Given the description of an element on the screen output the (x, y) to click on. 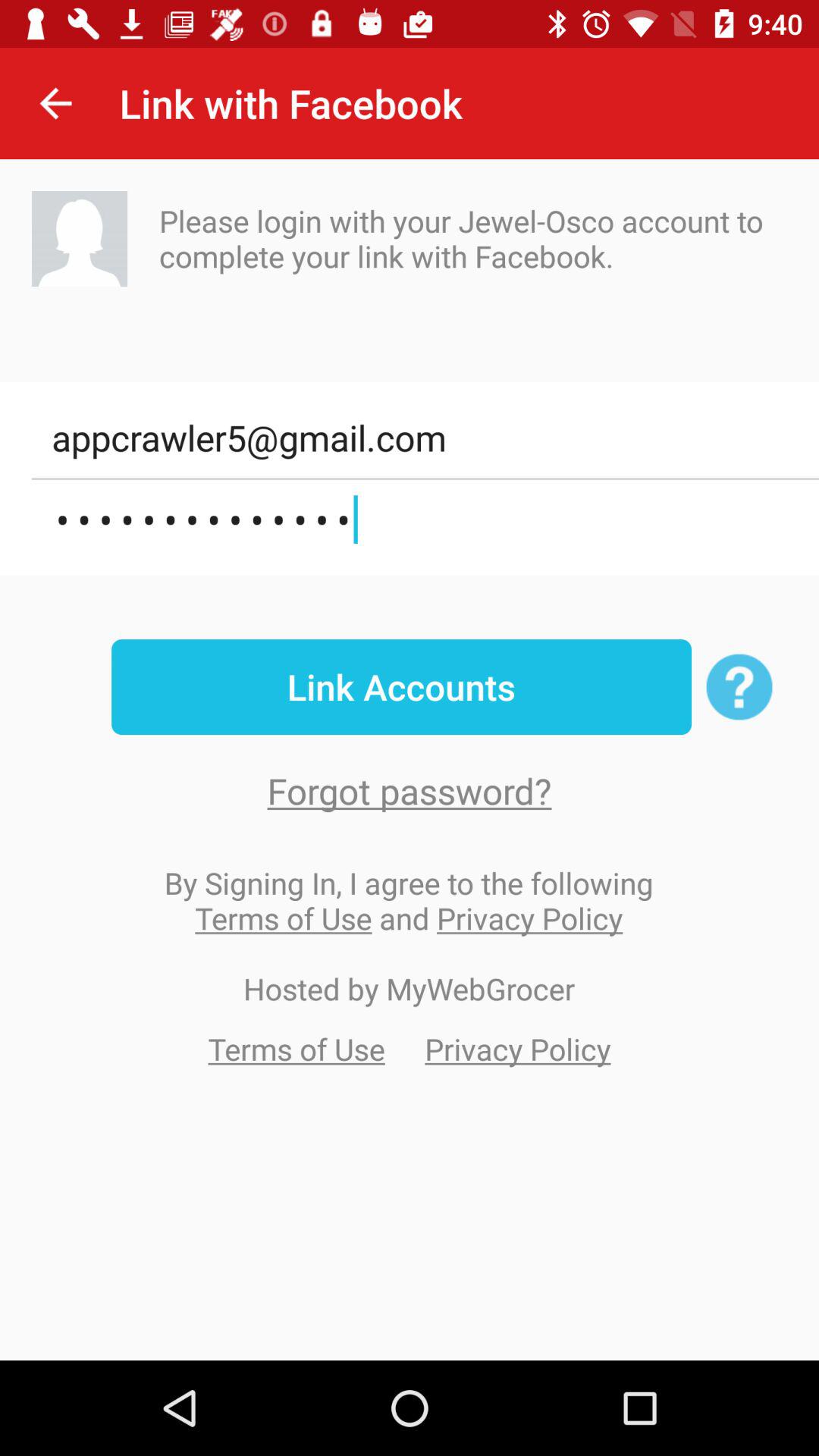
tap item below the link accounts item (409, 790)
